Given the description of an element on the screen output the (x, y) to click on. 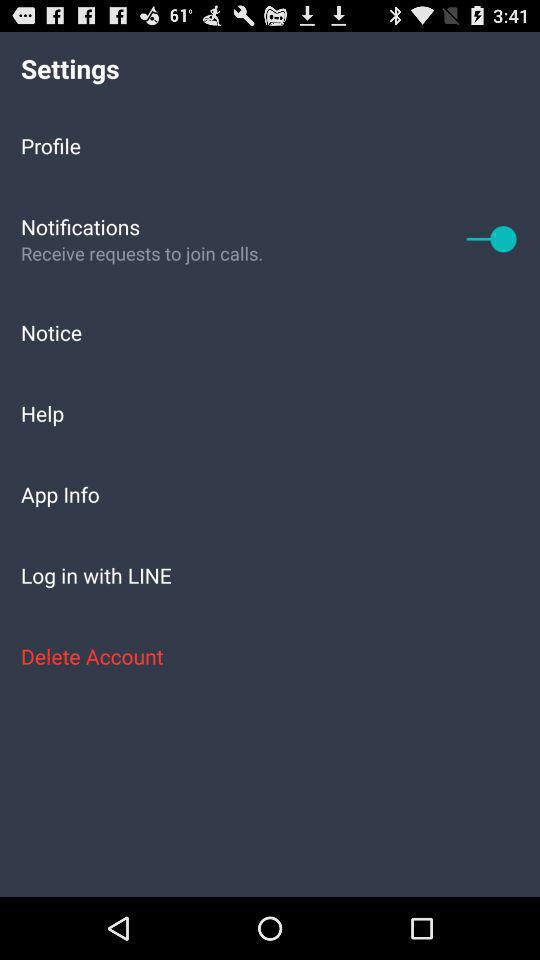
launch item below the help item (270, 493)
